Given the description of an element on the screen output the (x, y) to click on. 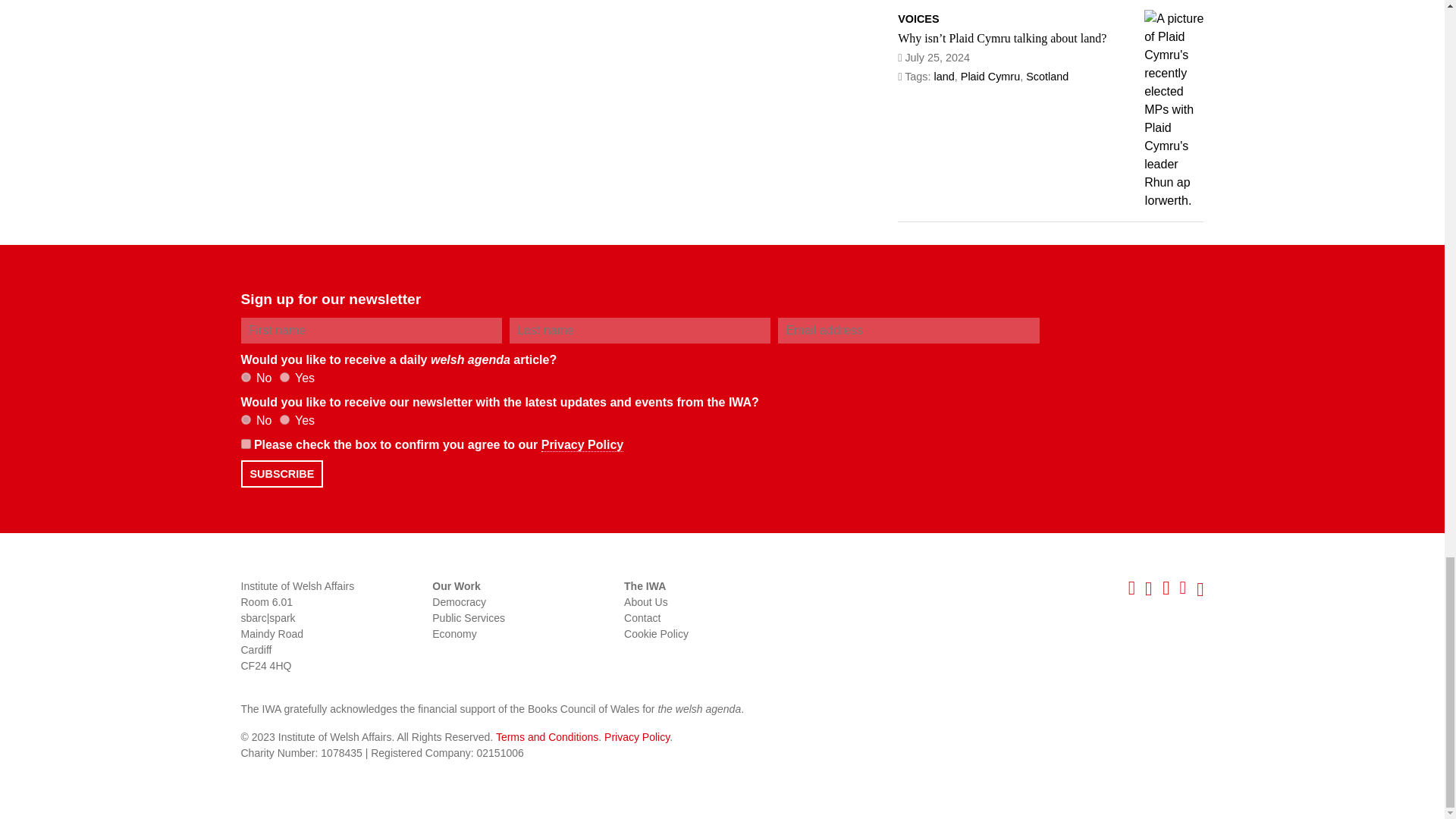
Subscribe (282, 473)
on (245, 443)
Yes (284, 419)
Yes (284, 377)
No (245, 377)
No (245, 419)
